Given the description of an element on the screen output the (x, y) to click on. 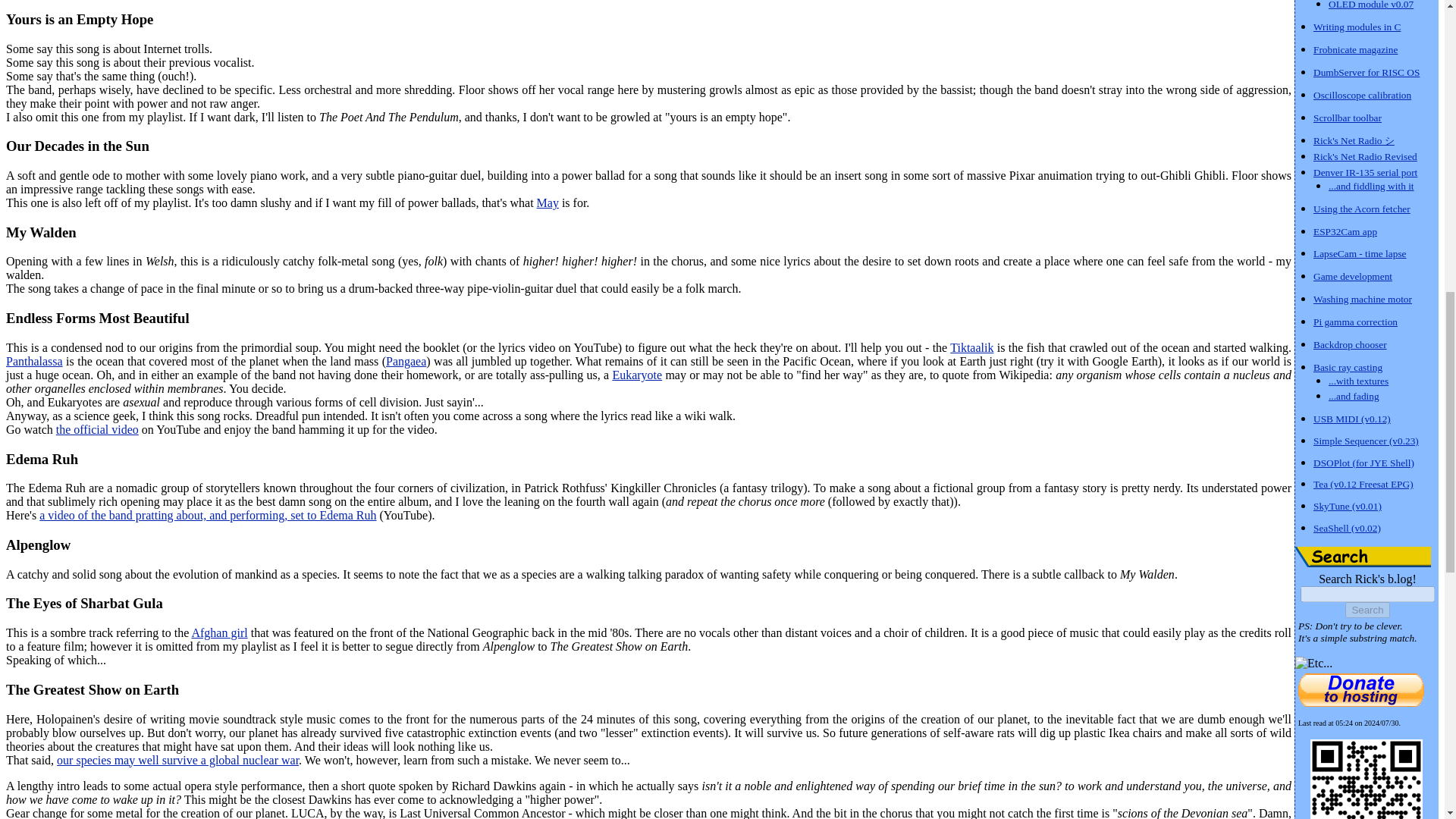
Pangaea (405, 360)
Panthalassa (33, 360)
Afghan girl (218, 632)
Eukaryote (636, 374)
May (548, 202)
Search (1367, 609)
the official video (97, 429)
Tiktaalik (971, 347)
our species may well survive a global nuclear war (177, 759)
